Given the description of an element on the screen output the (x, y) to click on. 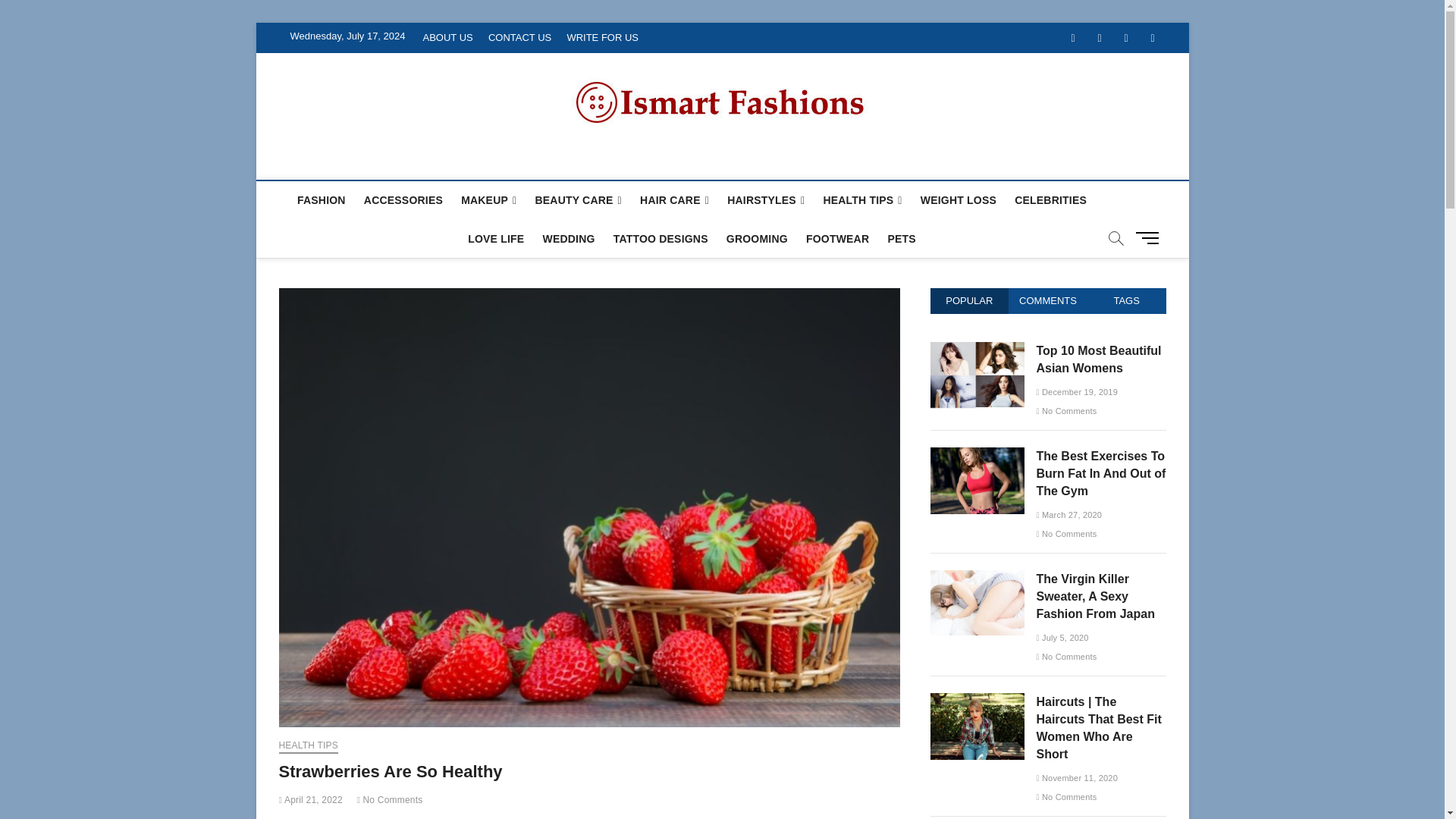
HAIR CARE (673, 200)
WEIGHT LOSS (958, 199)
WRITE FOR US (602, 37)
December 19, 2019 (1076, 391)
Twitter (1099, 38)
Instagram (1126, 38)
Ismart Fashions (383, 162)
ABOUT US (447, 37)
Top 10 Most Beautiful Asian Womens (977, 349)
Ismart Fashions (383, 162)
Linkedin (1152, 38)
The Best Exercises To Burn Fat In And Out of The Gym (977, 454)
HEALTH TIPS (861, 200)
HAIRSTYLES (765, 200)
